Given the description of an element on the screen output the (x, y) to click on. 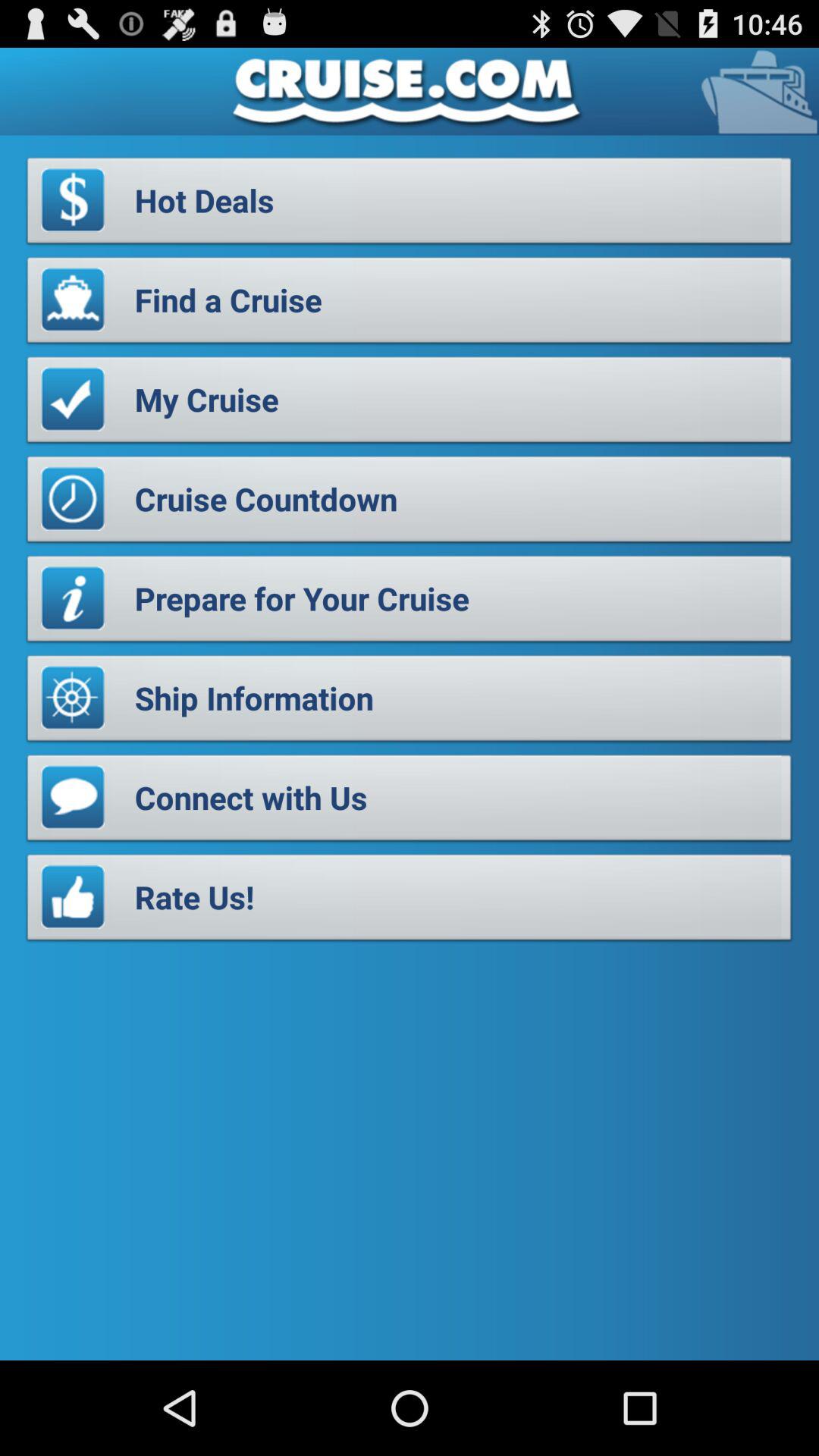
swipe until the find a cruise (409, 304)
